Given the description of an element on the screen output the (x, y) to click on. 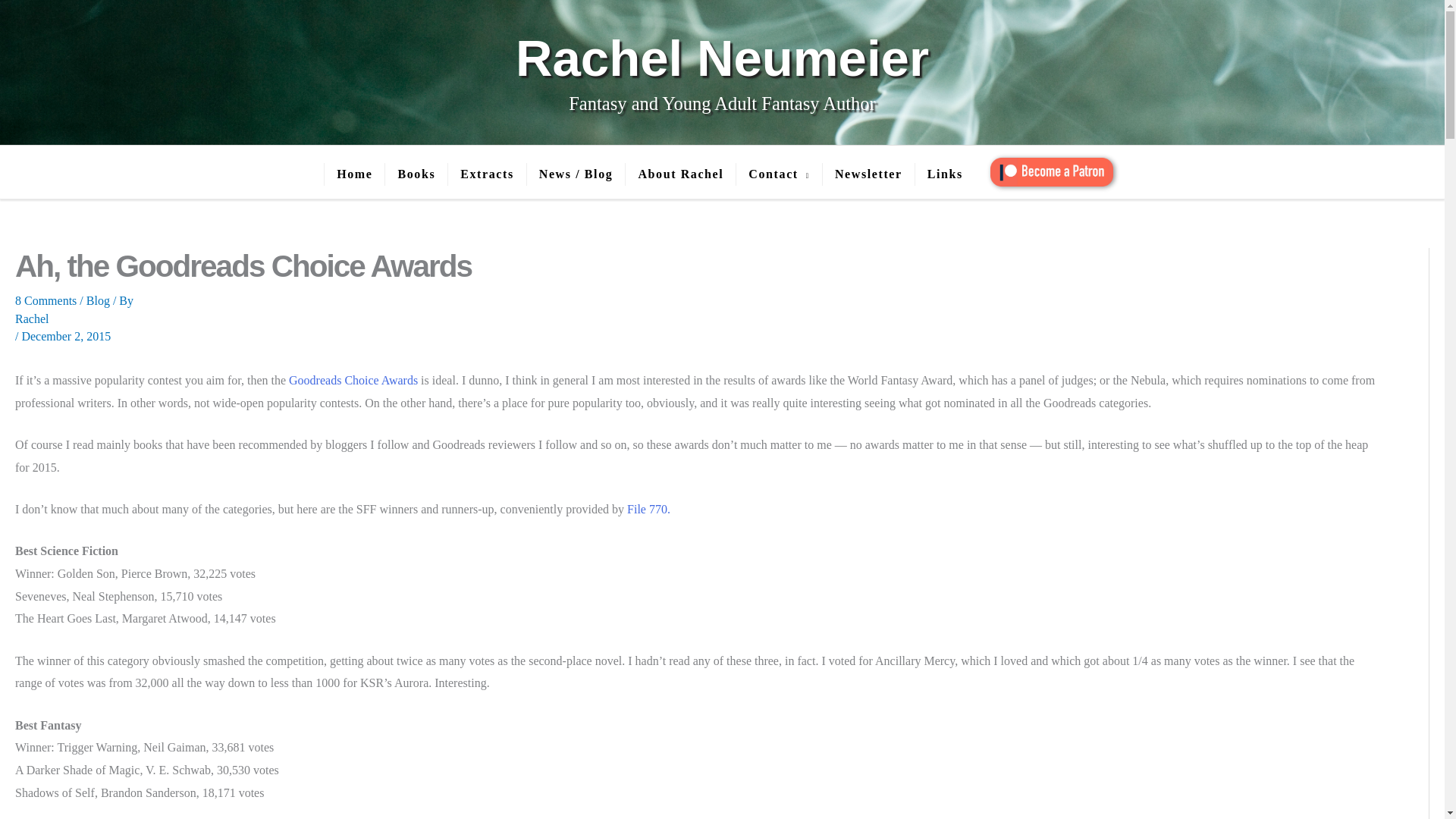
Rachel (698, 318)
Blog (97, 300)
8 Comments (45, 300)
Books (415, 173)
About Rachel (679, 173)
View all posts by Rachel (698, 318)
Home (353, 173)
Links (944, 173)
Contact (778, 173)
Extracts (485, 173)
Rachel Neumeier (721, 57)
Newsletter (868, 173)
File 770. (648, 508)
Goodreads Choice Awards (352, 379)
